Given the description of an element on the screen output the (x, y) to click on. 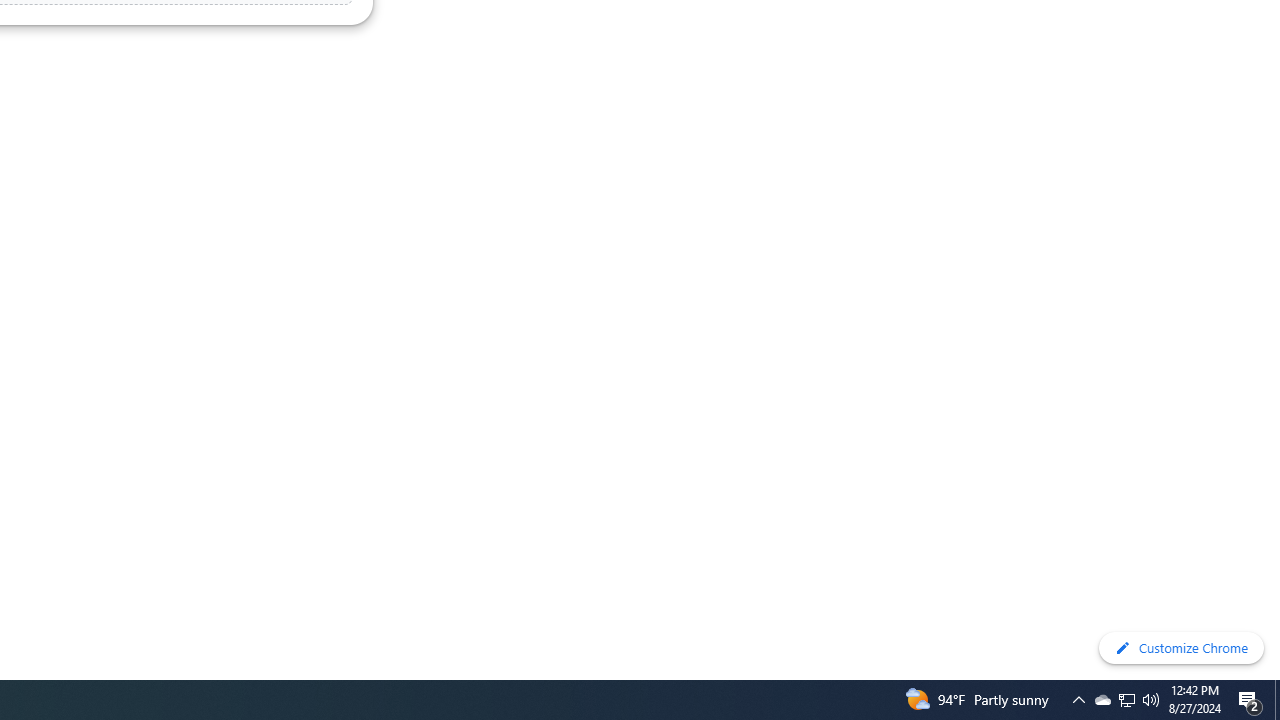
Customize Chrome (1181, 647)
